Given the description of an element on the screen output the (x, y) to click on. 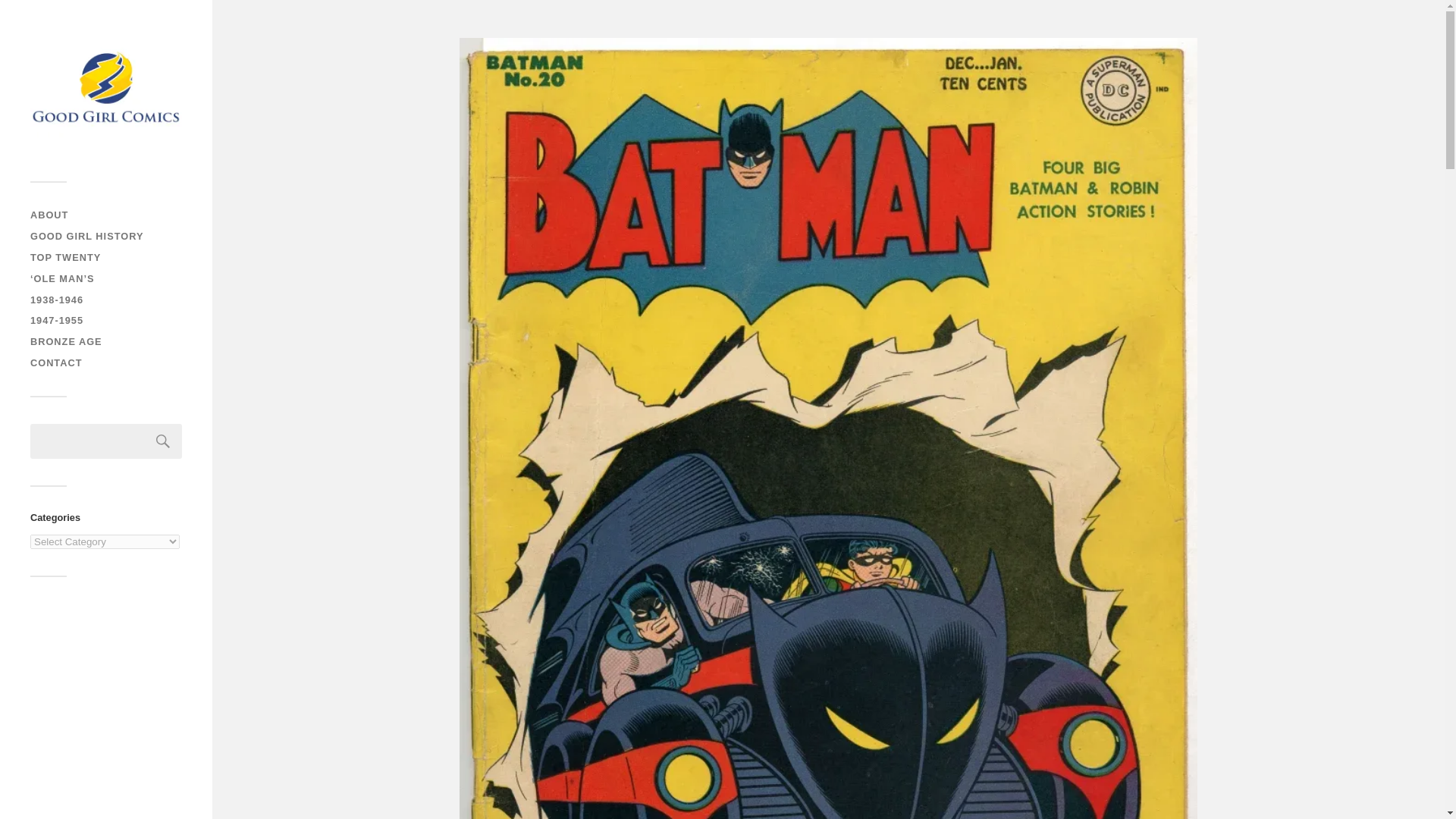
TOP TWENTY (65, 256)
GOOD GIRL HISTORY (86, 235)
ABOUT (49, 214)
CONTACT (55, 362)
Search (163, 441)
BRONZE AGE (65, 341)
1938-1946 (56, 299)
1947-1955 (56, 319)
Search (163, 441)
